Given the description of an element on the screen output the (x, y) to click on. 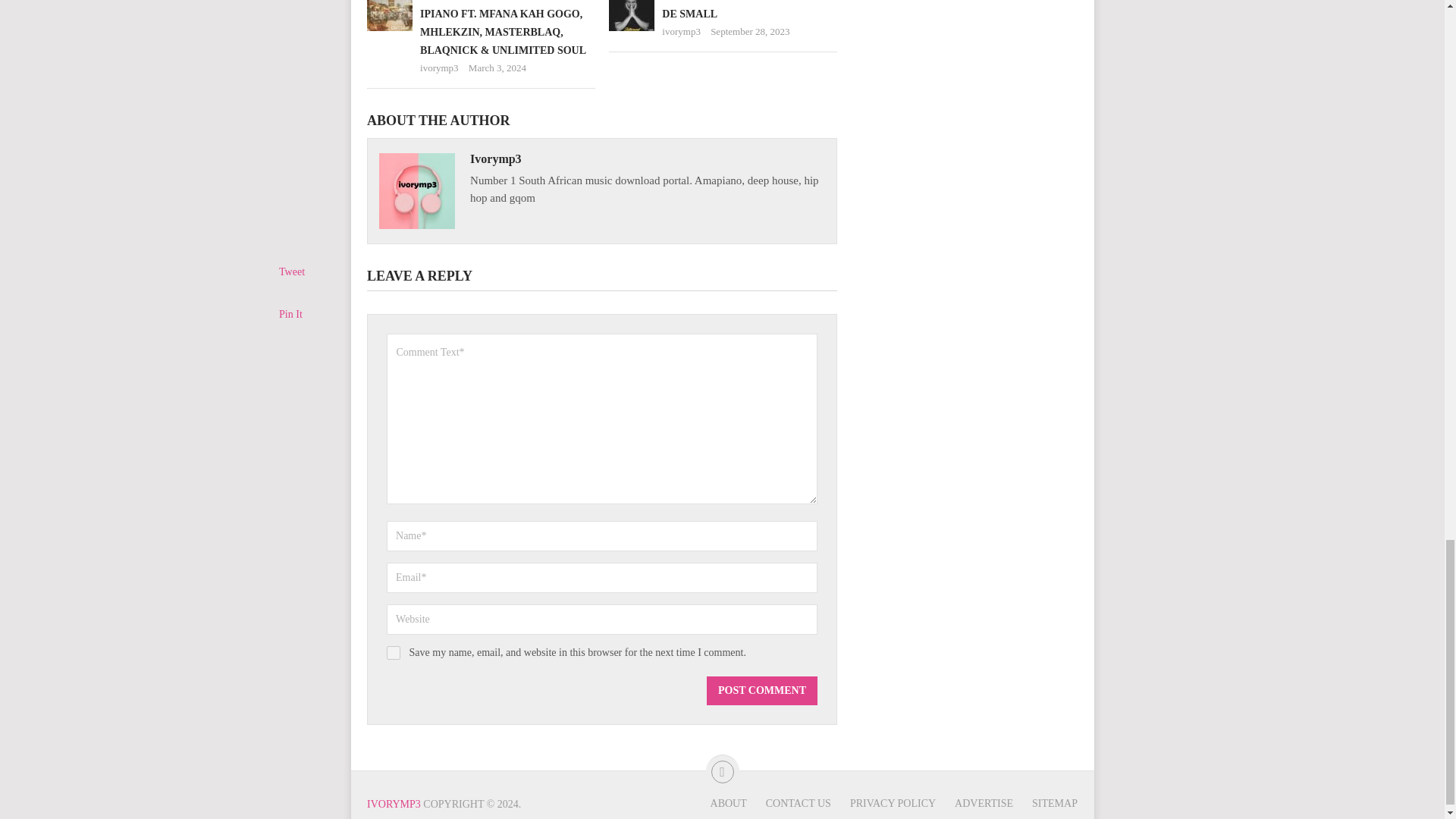
Post Comment (761, 690)
yes (393, 653)
